Given the description of an element on the screen output the (x, y) to click on. 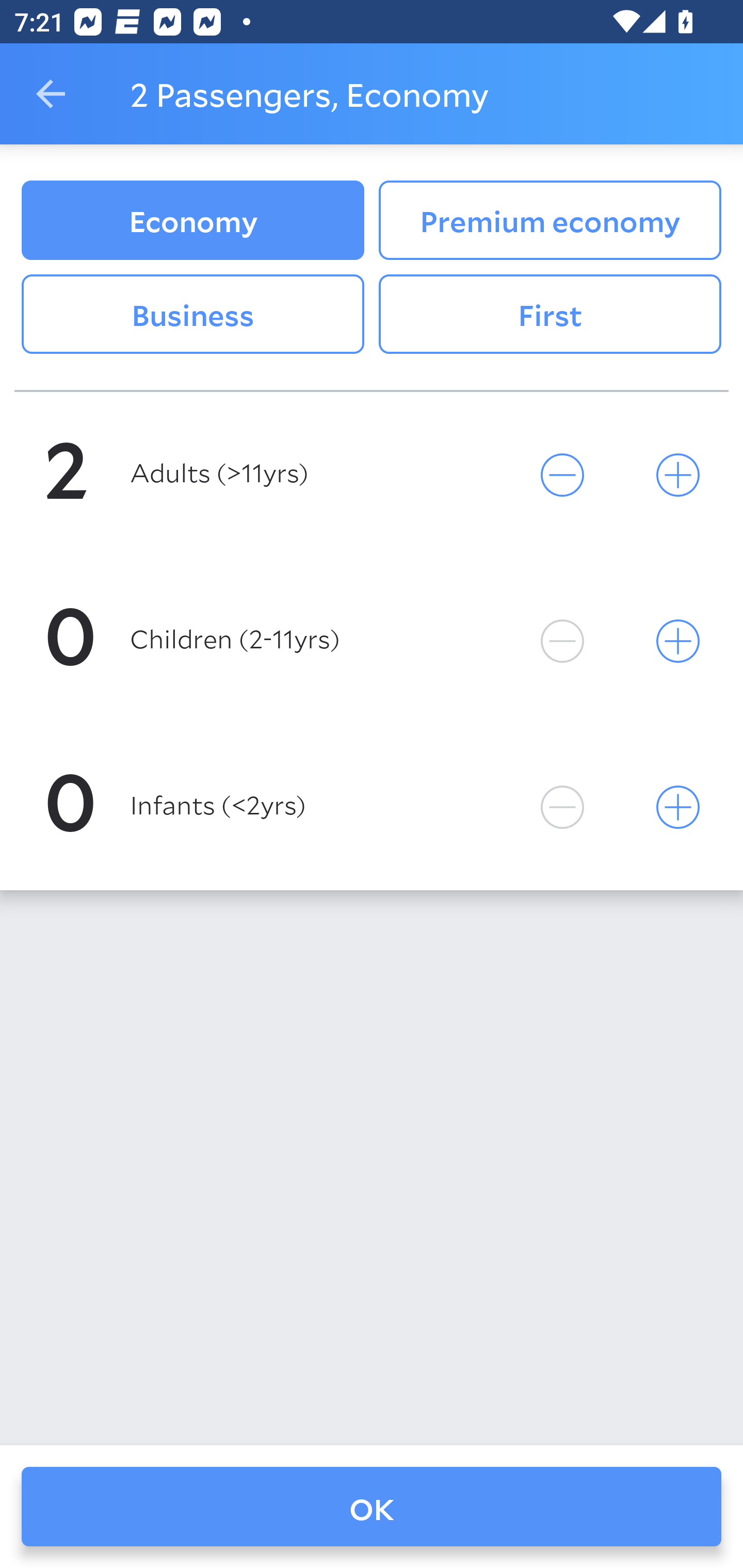
Navigate up (50, 93)
Economy (192, 220)
Premium economy (549, 220)
Business (192, 314)
First (549, 314)
OK (371, 1506)
